Given the description of an element on the screen output the (x, y) to click on. 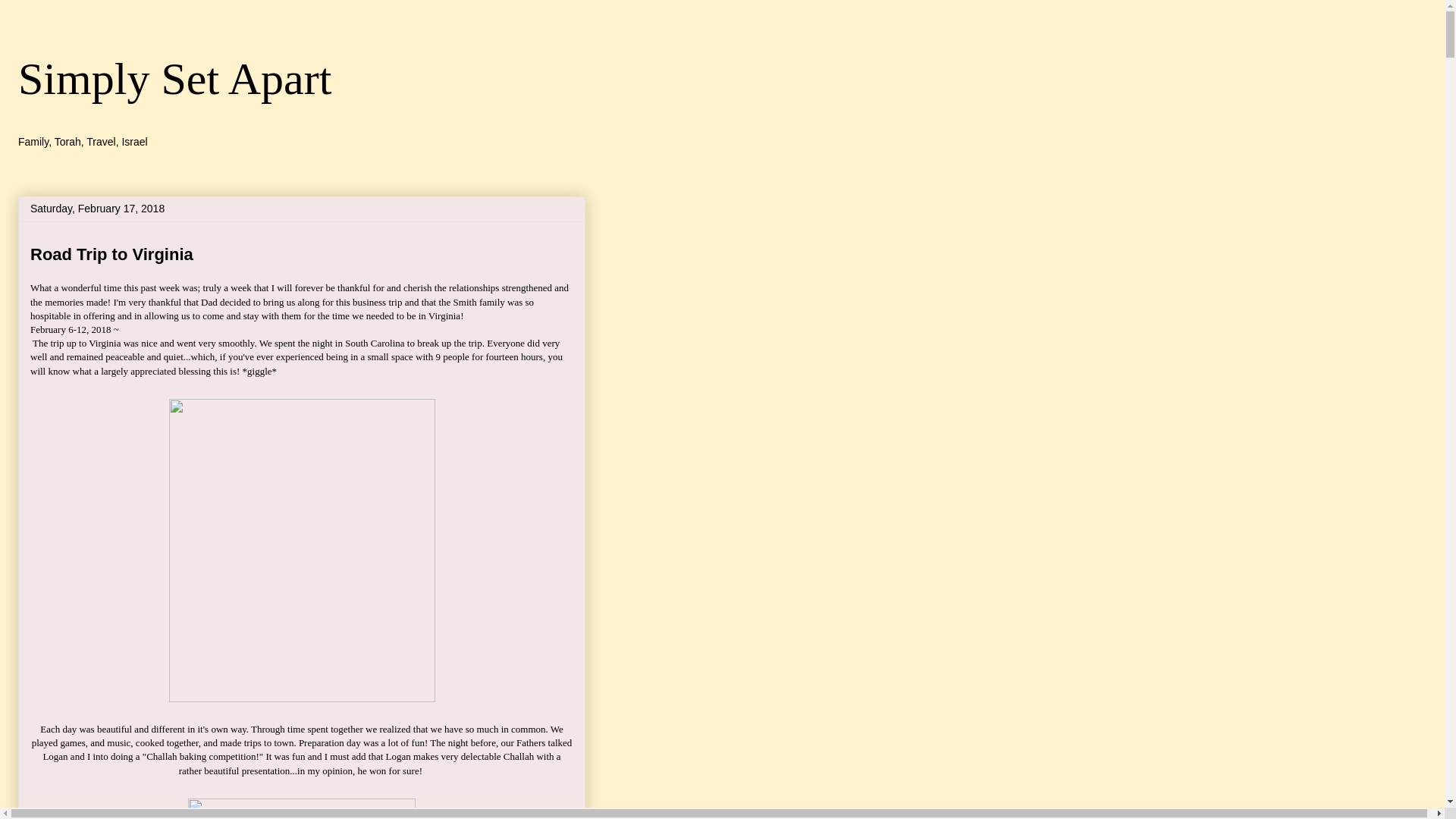
Simply Set Apart (174, 79)
